Given the description of an element on the screen output the (x, y) to click on. 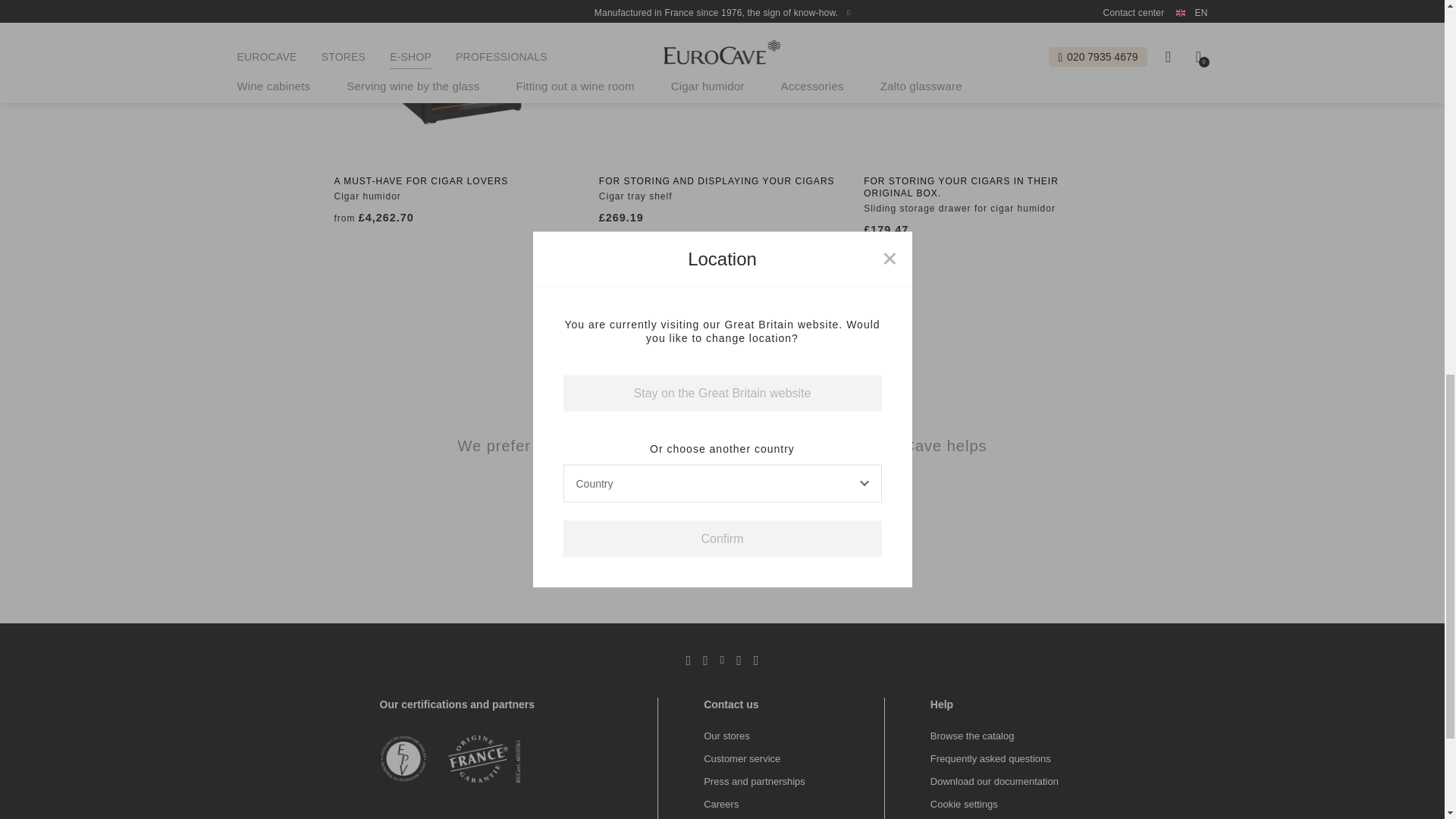
Sliding storage drawer for cigar humidor (986, 81)
Cigar tray shelf (721, 81)
Cigar humidor (456, 81)
